Given the description of an element on the screen output the (x, y) to click on. 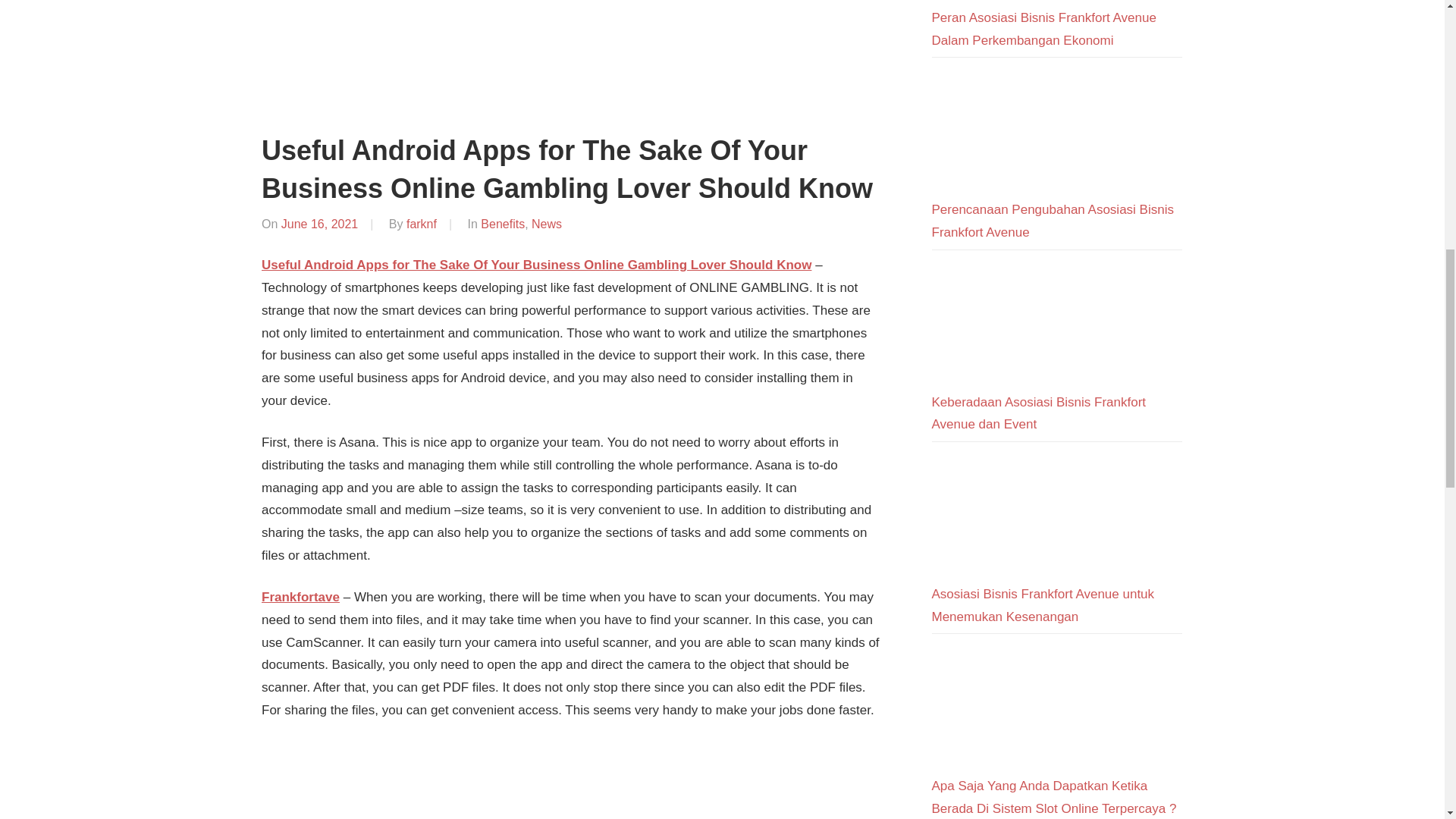
Perencanaan Pengubahan Asosiasi Bisnis Frankfort Avenue (1052, 220)
Keberadaan Asosiasi Bisnis Frankfort Avenue dan Event (1038, 413)
7:35 am (319, 223)
Asosiasi Bisnis Frankfort Avenue untuk Menemukan Kesenangan (1042, 605)
farknf (421, 223)
Frankfortave (300, 596)
News (546, 223)
